Given the description of an element on the screen output the (x, y) to click on. 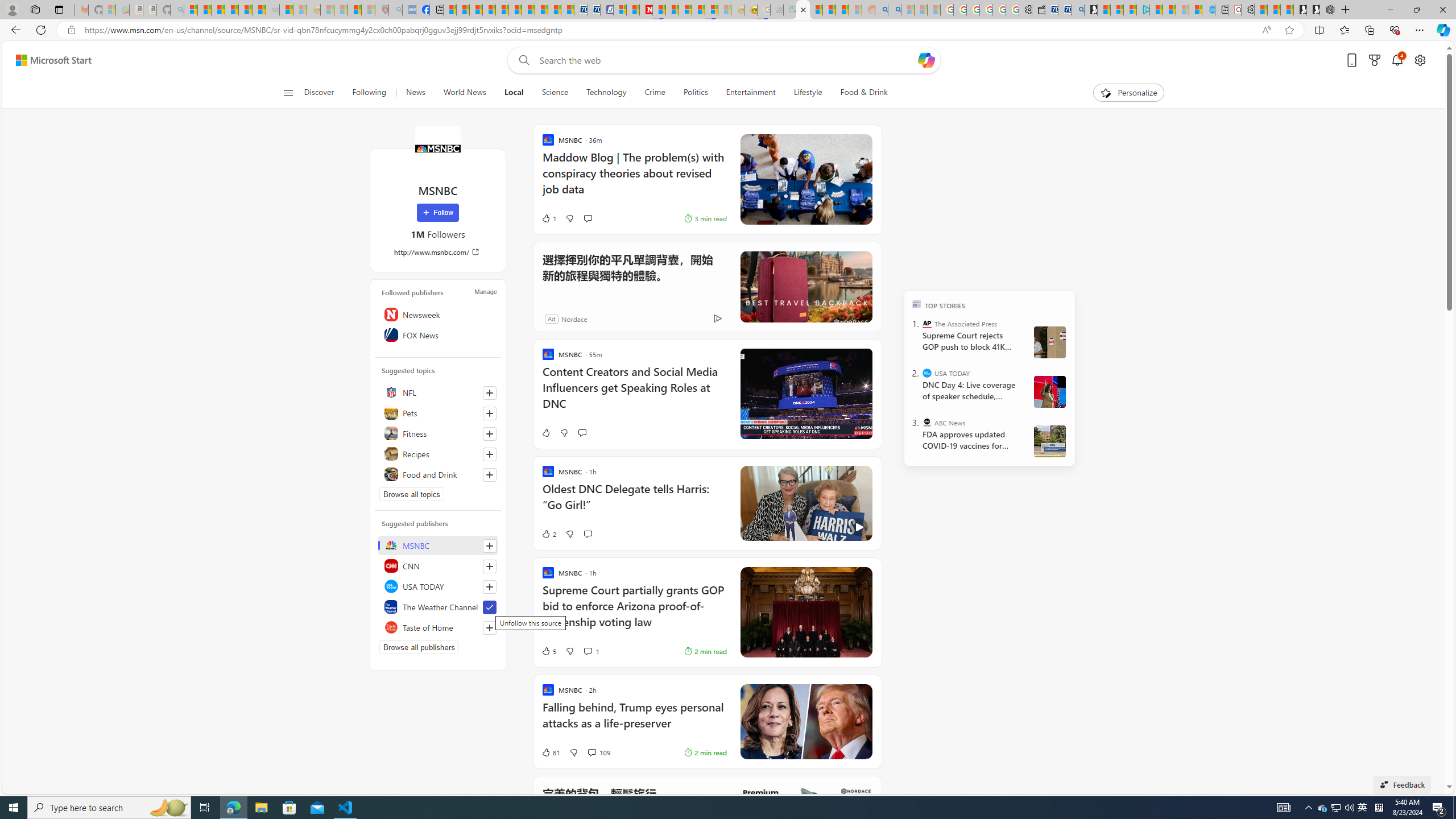
Manage (485, 291)
MSNBC (437, 545)
12 Popular Science Lies that Must be Corrected - Sleeping (368, 9)
